Given the description of an element on the screen output the (x, y) to click on. 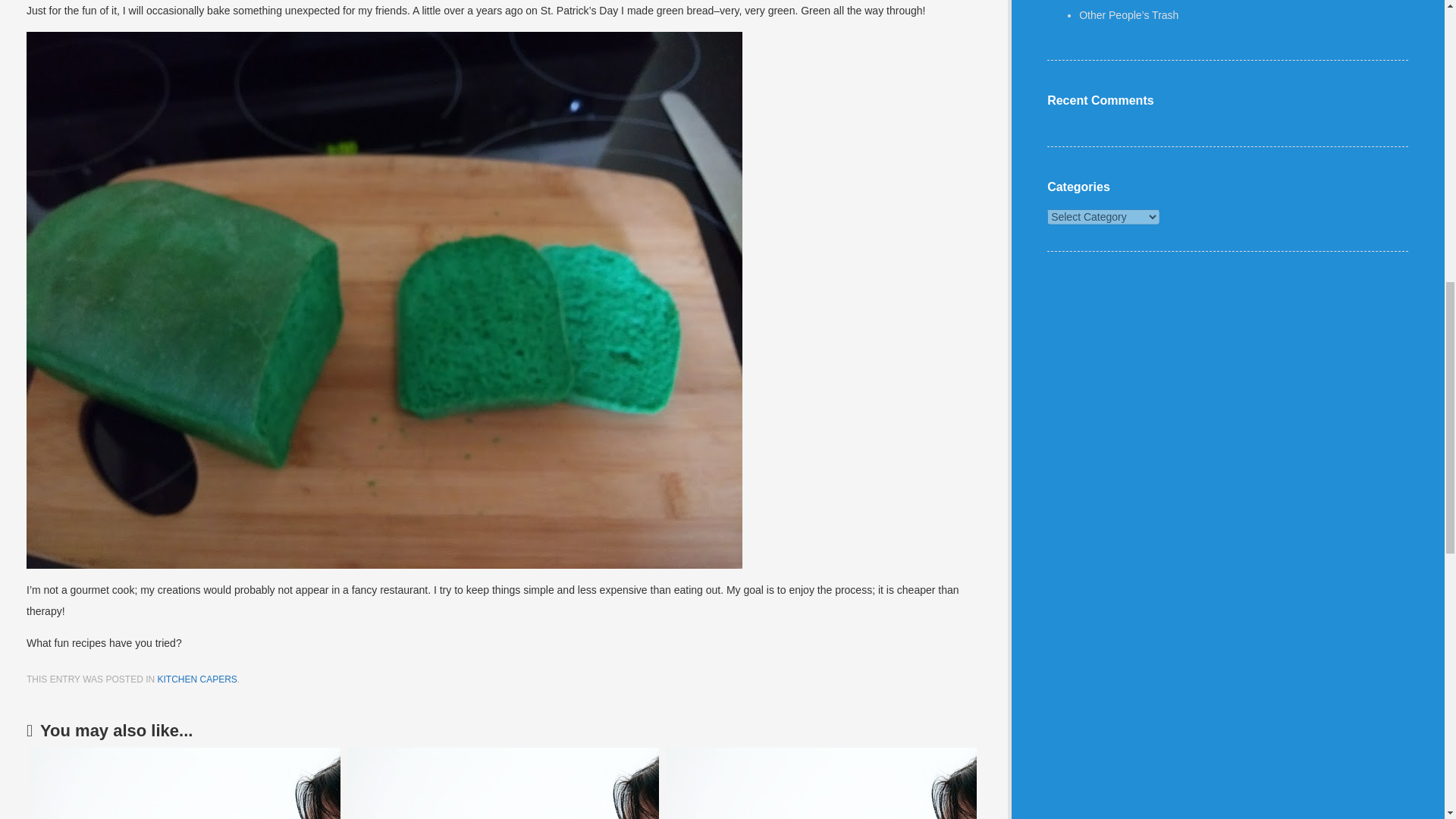
Smell the Roses (821, 783)
Getting to Know Your Money (185, 783)
Out of Control (502, 783)
KITCHEN CAPERS (196, 679)
